Given the description of an element on the screen output the (x, y) to click on. 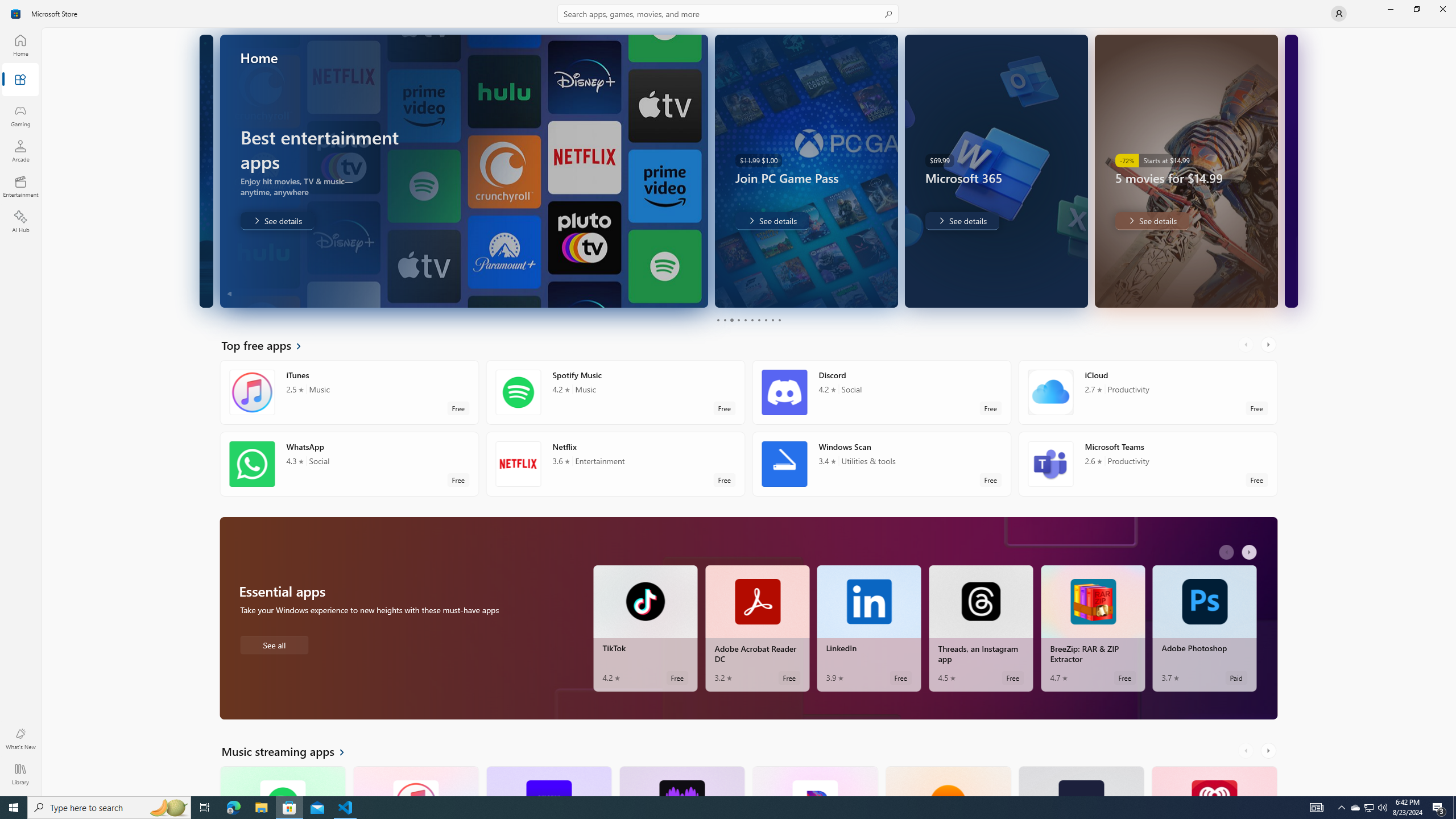
Page 9 (772, 319)
See all  Top free apps (268, 345)
Page 6 (751, 319)
Class: Image (15, 13)
User profile (1338, 13)
Page 3 (731, 319)
Home (20, 45)
iTunes. Average rating of 2.5 out of five stars. Free   (415, 780)
